Given the description of an element on the screen output the (x, y) to click on. 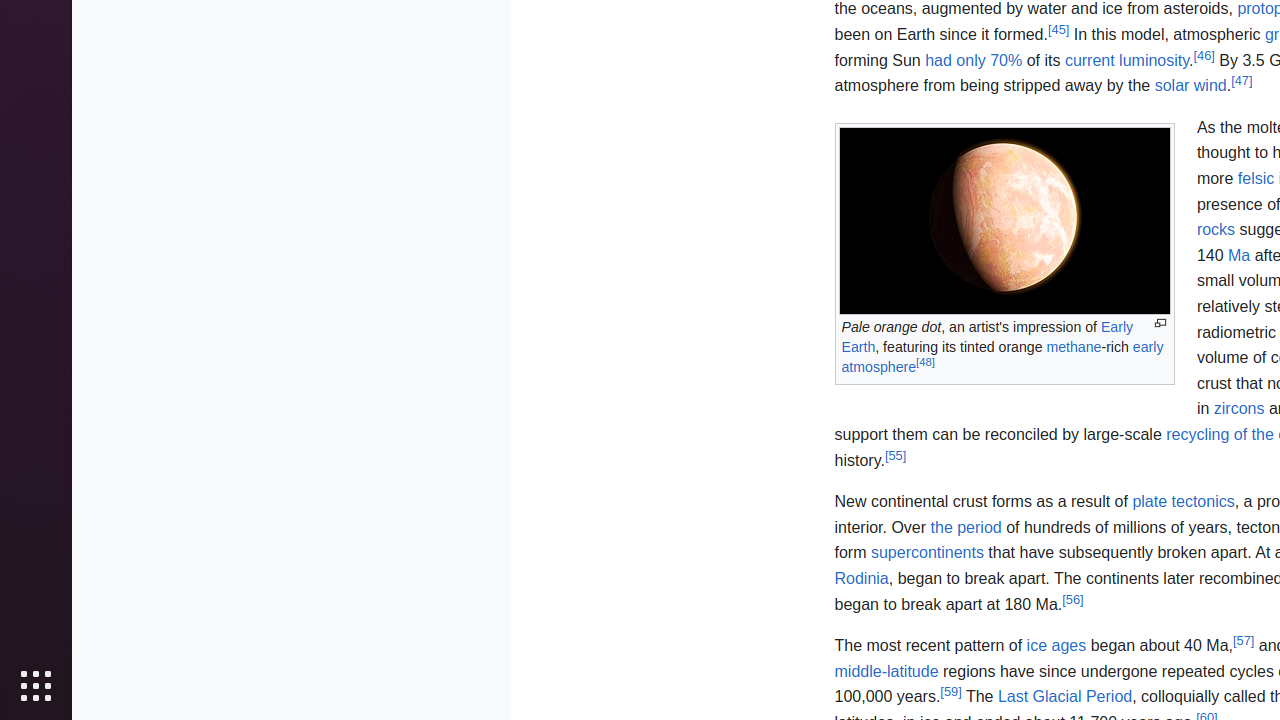
[45] Element type: link (1058, 29)
methane Element type: link (1074, 346)
Last Glacial Period Element type: link (1065, 697)
[56] Element type: link (1073, 599)
[57] Element type: link (1243, 640)
